Given the description of an element on the screen output the (x, y) to click on. 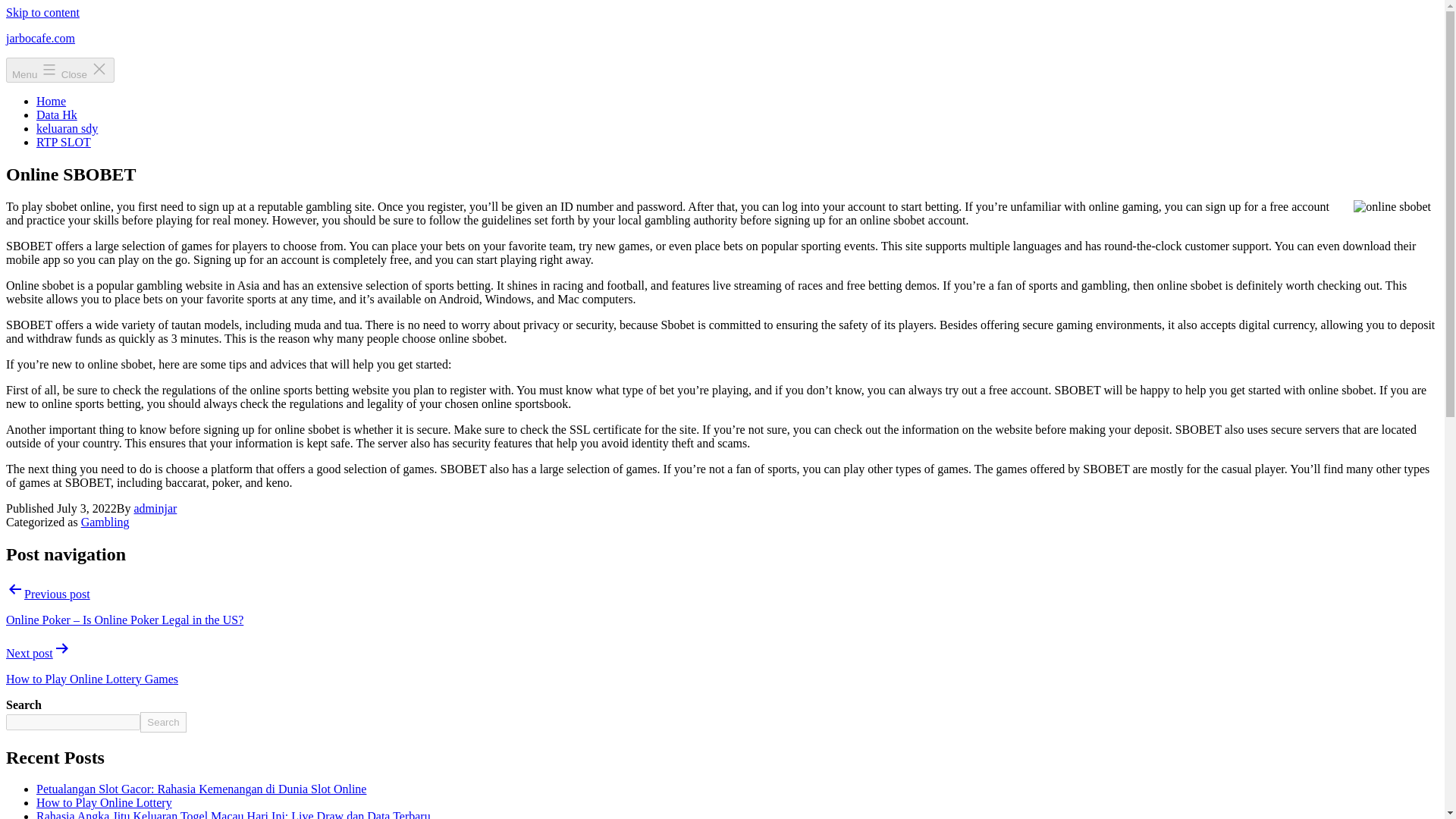
Skip to content (42, 11)
RTP SLOT (63, 141)
keluaran sdy (66, 128)
Gambling (105, 521)
Home (50, 101)
adminjar (154, 508)
Menu Close (60, 69)
jarbocafe.com (40, 38)
Search (162, 721)
Data Hk (56, 114)
How to Play Online Lottery (103, 802)
